Given the description of an element on the screen output the (x, y) to click on. 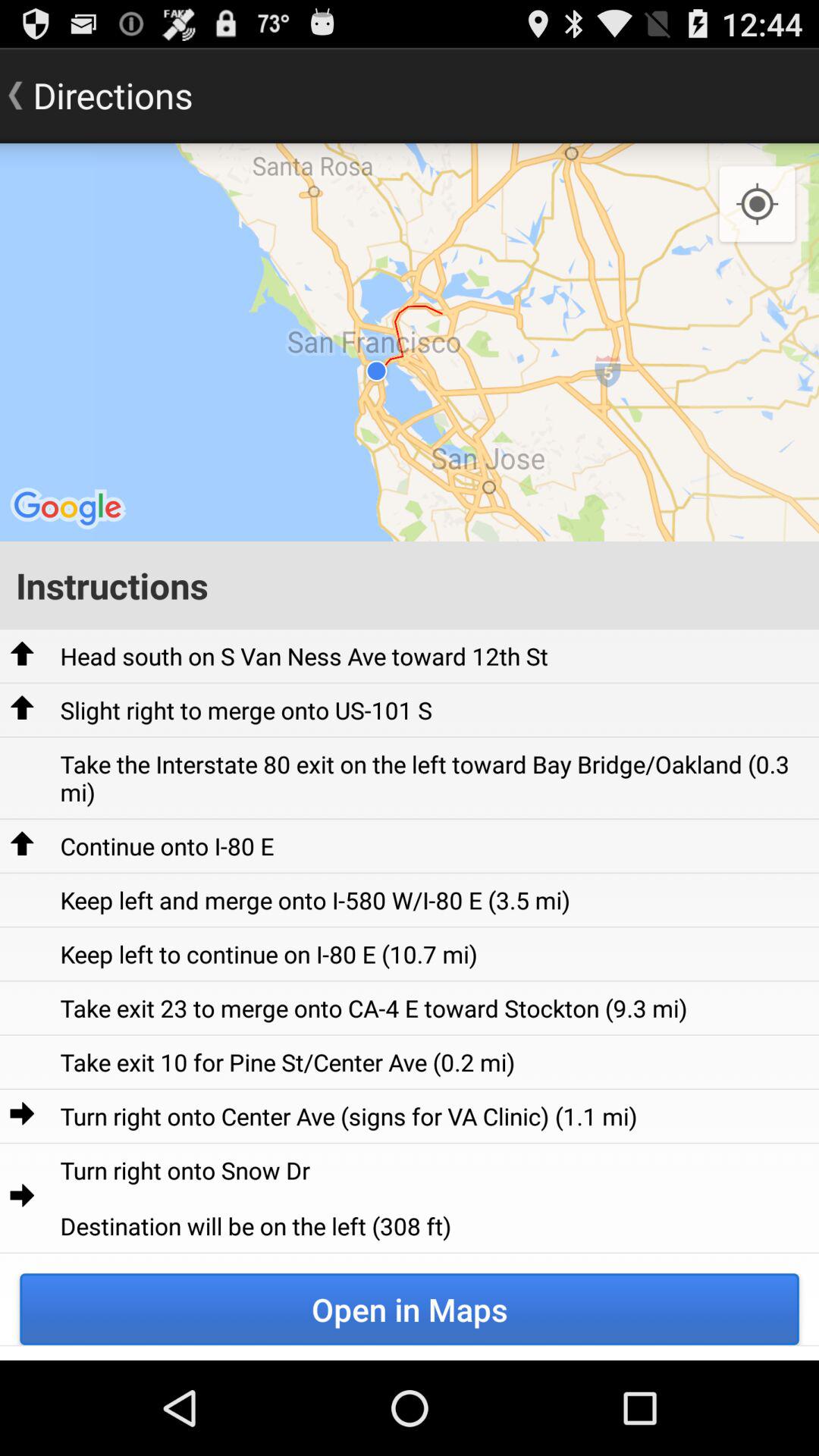
swipe until take the interstate item (434, 777)
